Given the description of an element on the screen output the (x, y) to click on. 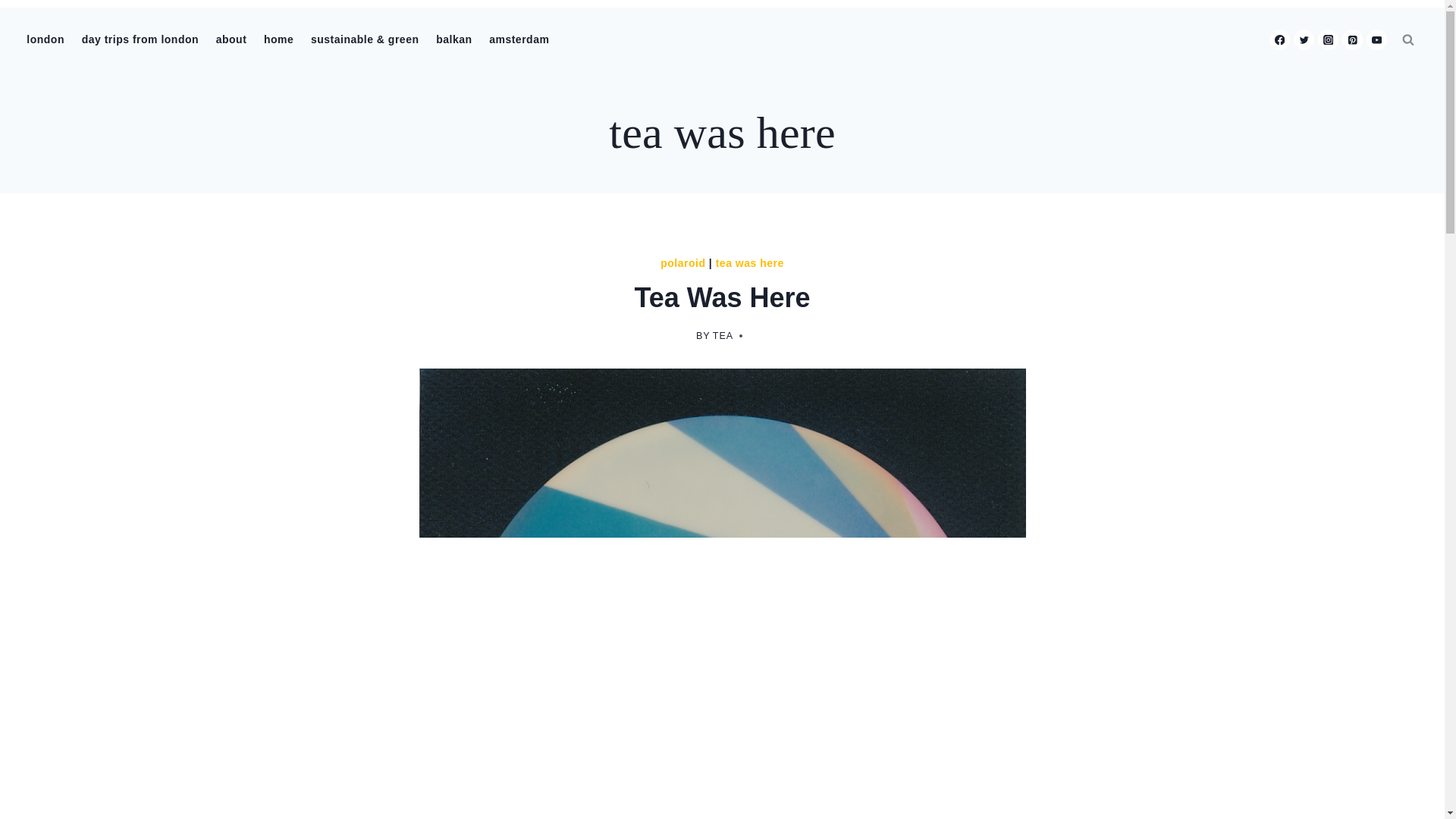
home (279, 39)
day trips from london (139, 39)
TEA (723, 335)
about (230, 39)
polaroid (682, 263)
balkan (454, 39)
amsterdam (518, 39)
tea was here (750, 263)
london (44, 39)
tea was here (721, 132)
